Given the description of an element on the screen output the (x, y) to click on. 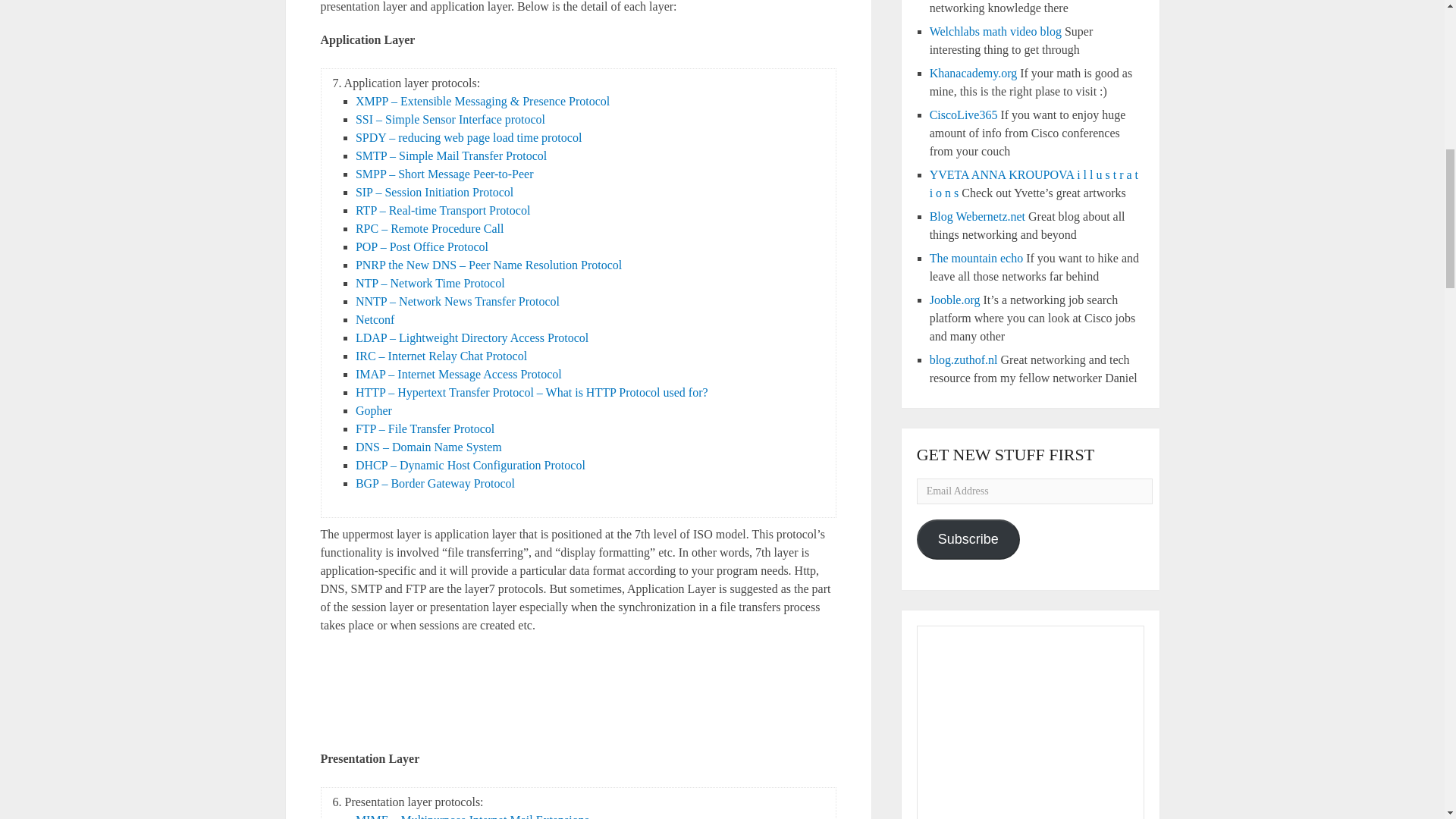
Super interesting thing to get through (995, 31)
Great blog about all things networking and beyond (977, 215)
If you want to hike and leave all those networks far behind (976, 257)
